Given the description of an element on the screen output the (x, y) to click on. 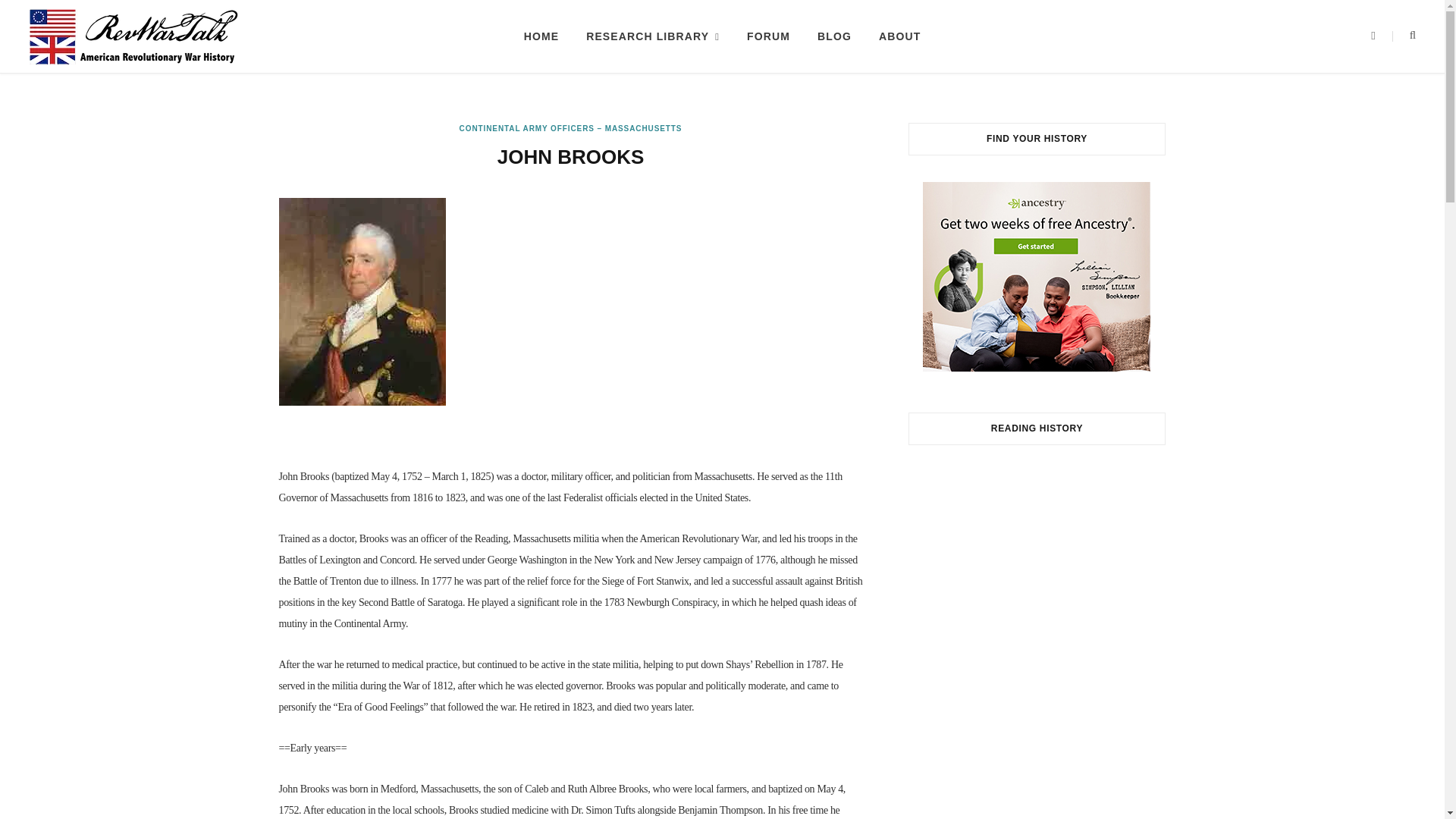
ABOUT (899, 36)
FORUM (768, 36)
RevWarTalk (133, 35)
RESEARCH LIBRARY (652, 36)
